Given the description of an element on the screen output the (x, y) to click on. 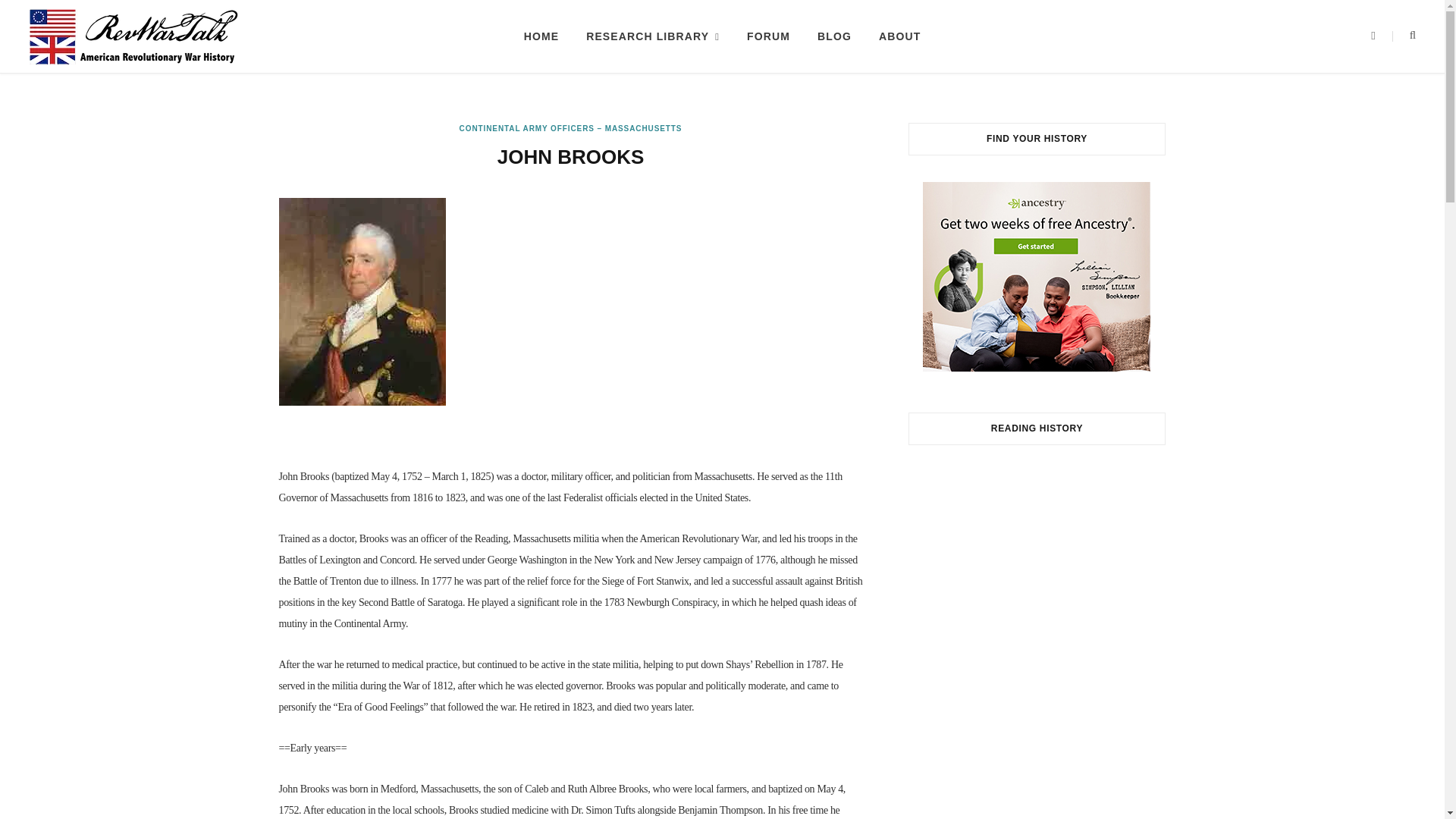
ABOUT (899, 36)
FORUM (768, 36)
RevWarTalk (133, 35)
RESEARCH LIBRARY (652, 36)
